Given the description of an element on the screen output the (x, y) to click on. 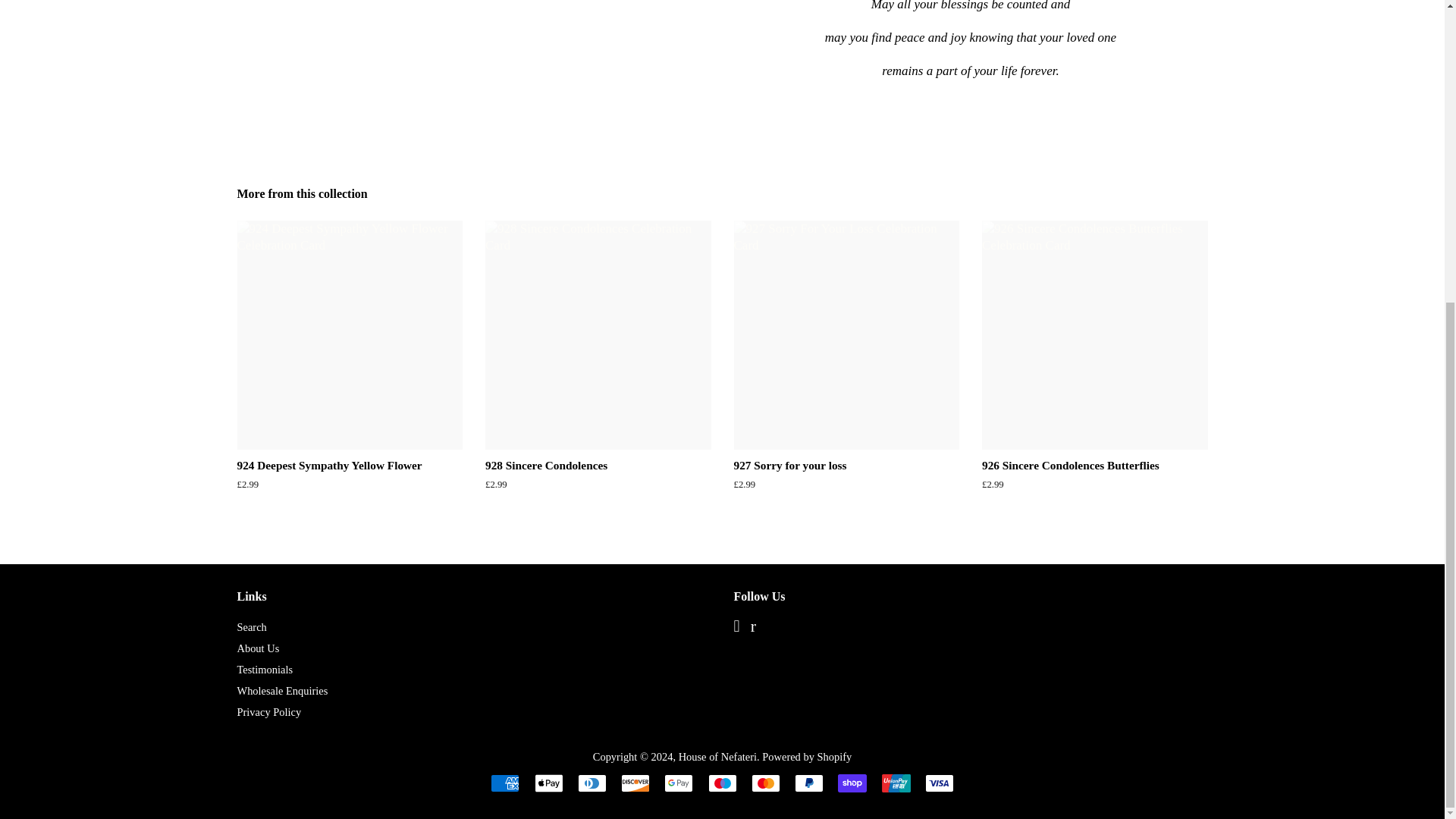
Apple Pay (548, 782)
American Express (504, 782)
Google Pay (678, 782)
Maestro (721, 782)
Shop Pay (852, 782)
PayPal (809, 782)
Visa (938, 782)
Mastercard (765, 782)
Union Pay (895, 782)
Discover (635, 782)
